Given the description of an element on the screen output the (x, y) to click on. 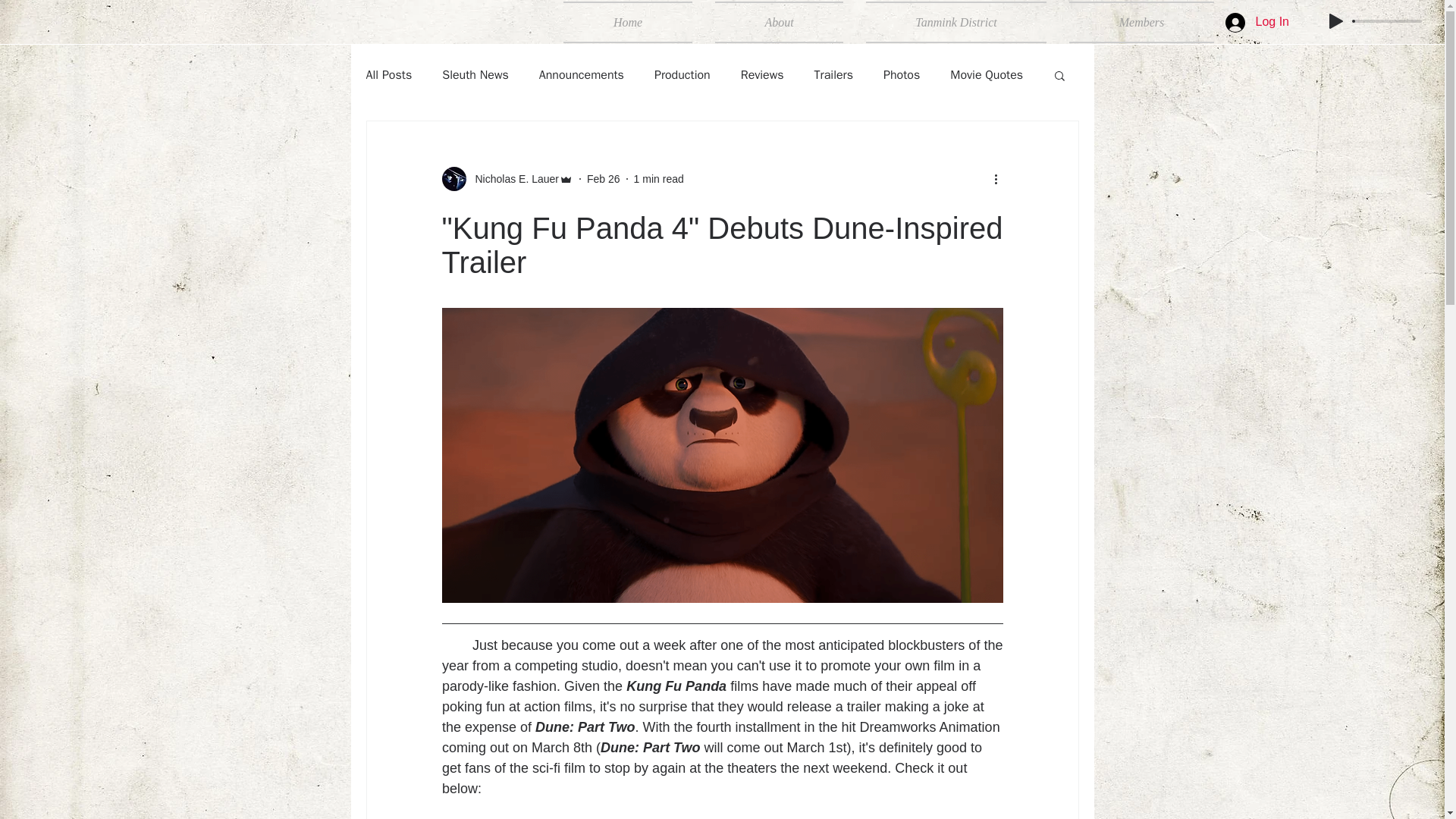
Production (681, 74)
About (778, 22)
Home (633, 22)
Reviews (762, 74)
Announcements (581, 74)
Nicholas E. Lauer (512, 179)
Members (1136, 22)
Tanmink District (956, 22)
0 (1388, 20)
Movie Quotes (986, 74)
Nicholas E. Lauer (507, 178)
Feb 26 (603, 178)
Trailers (833, 74)
Log In (1257, 21)
Photos (901, 74)
